Given the description of an element on the screen output the (x, y) to click on. 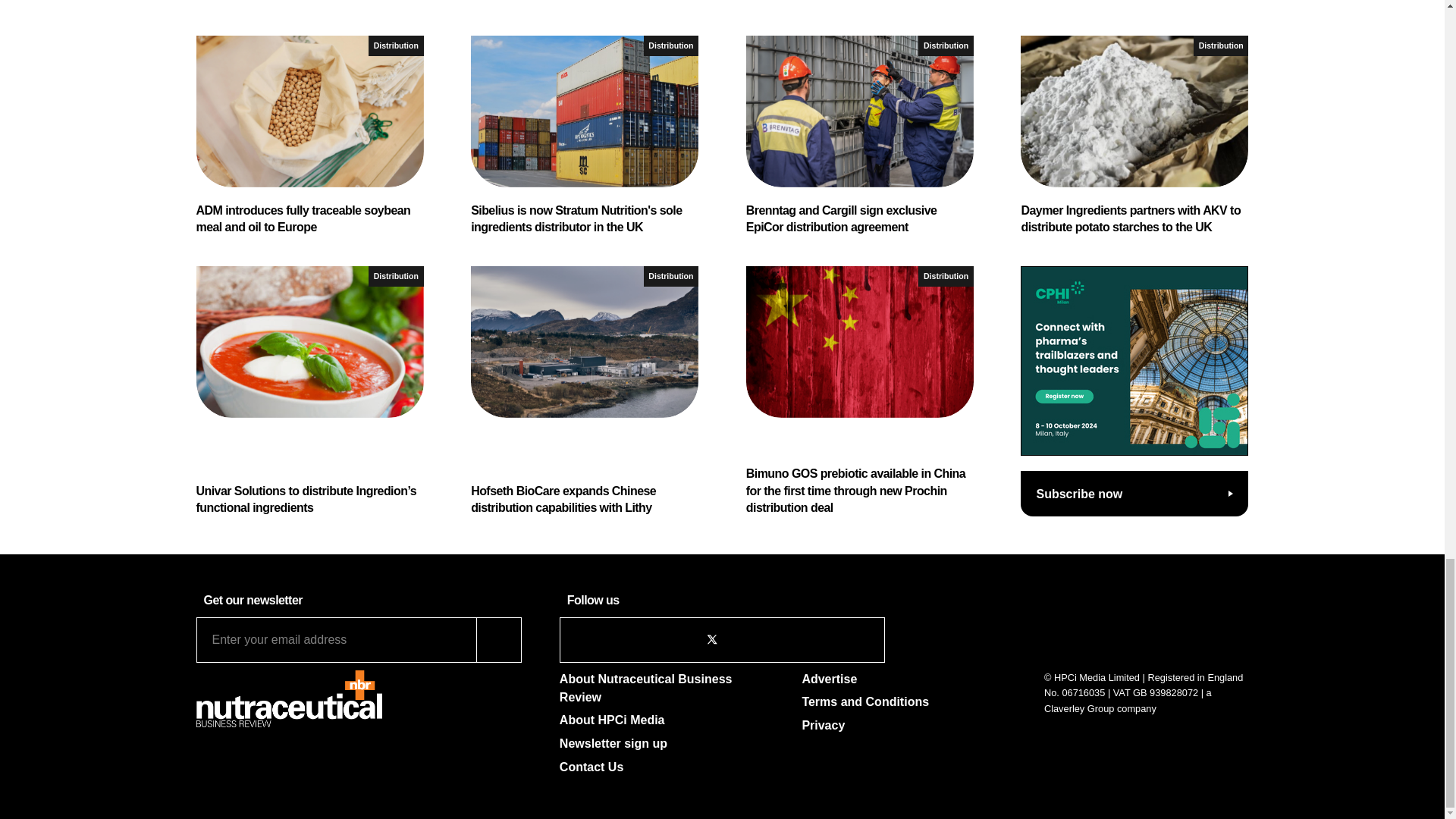
Distribution (670, 46)
Distribution (395, 46)
Follow Nutraceutical Business Review on X (711, 638)
